Given the description of an element on the screen output the (x, y) to click on. 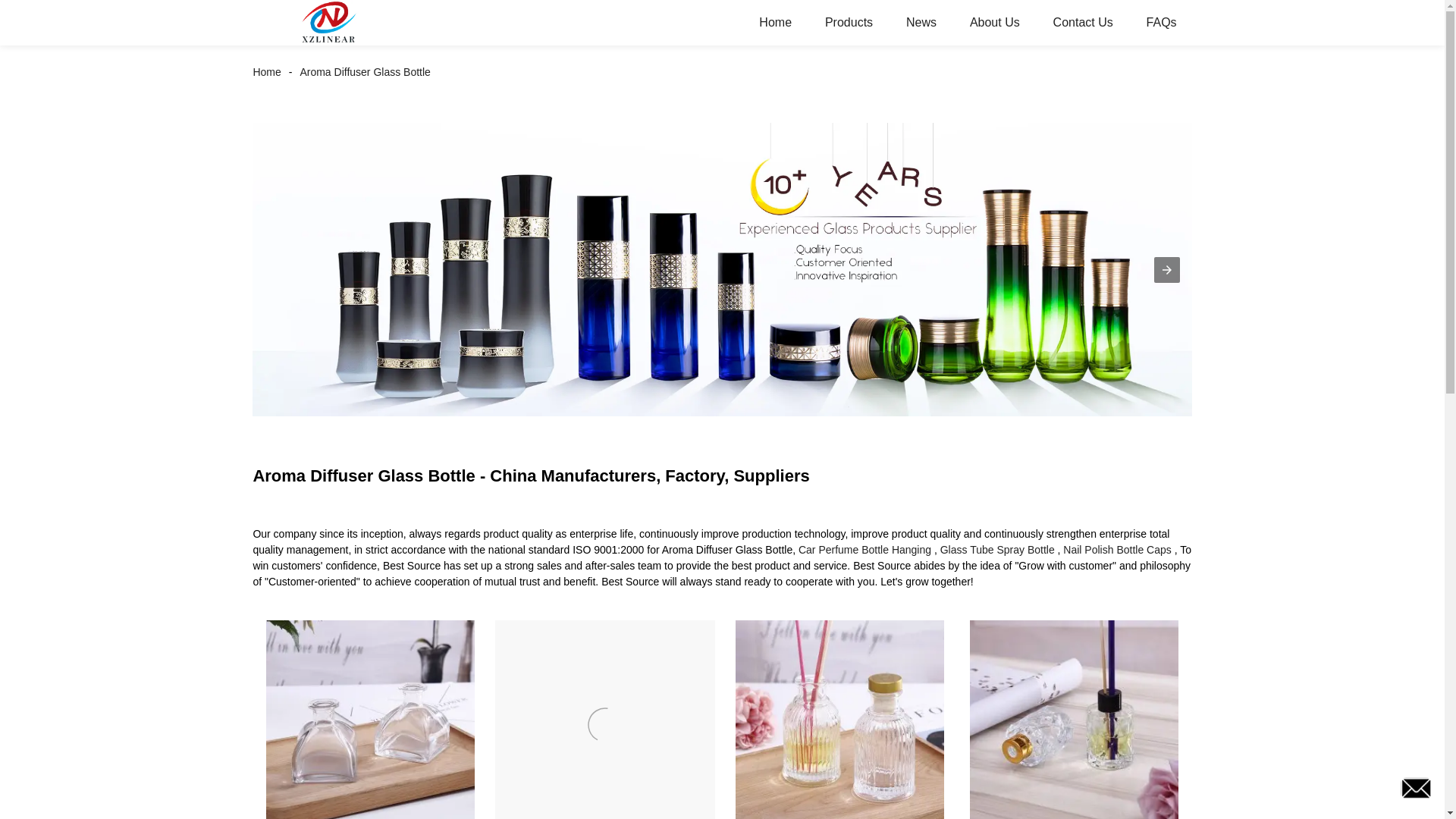
FAQs (1161, 22)
Aroma Diffuser Glass Bottle (365, 71)
News (921, 22)
Car Perfume Bottle Hanging (864, 549)
Nail Polish Bottle Caps (1116, 549)
Glass Tube Spray Bottle (997, 549)
About Us (995, 22)
Products (848, 22)
Contact Us (1083, 22)
Home (269, 71)
